Given the description of an element on the screen output the (x, y) to click on. 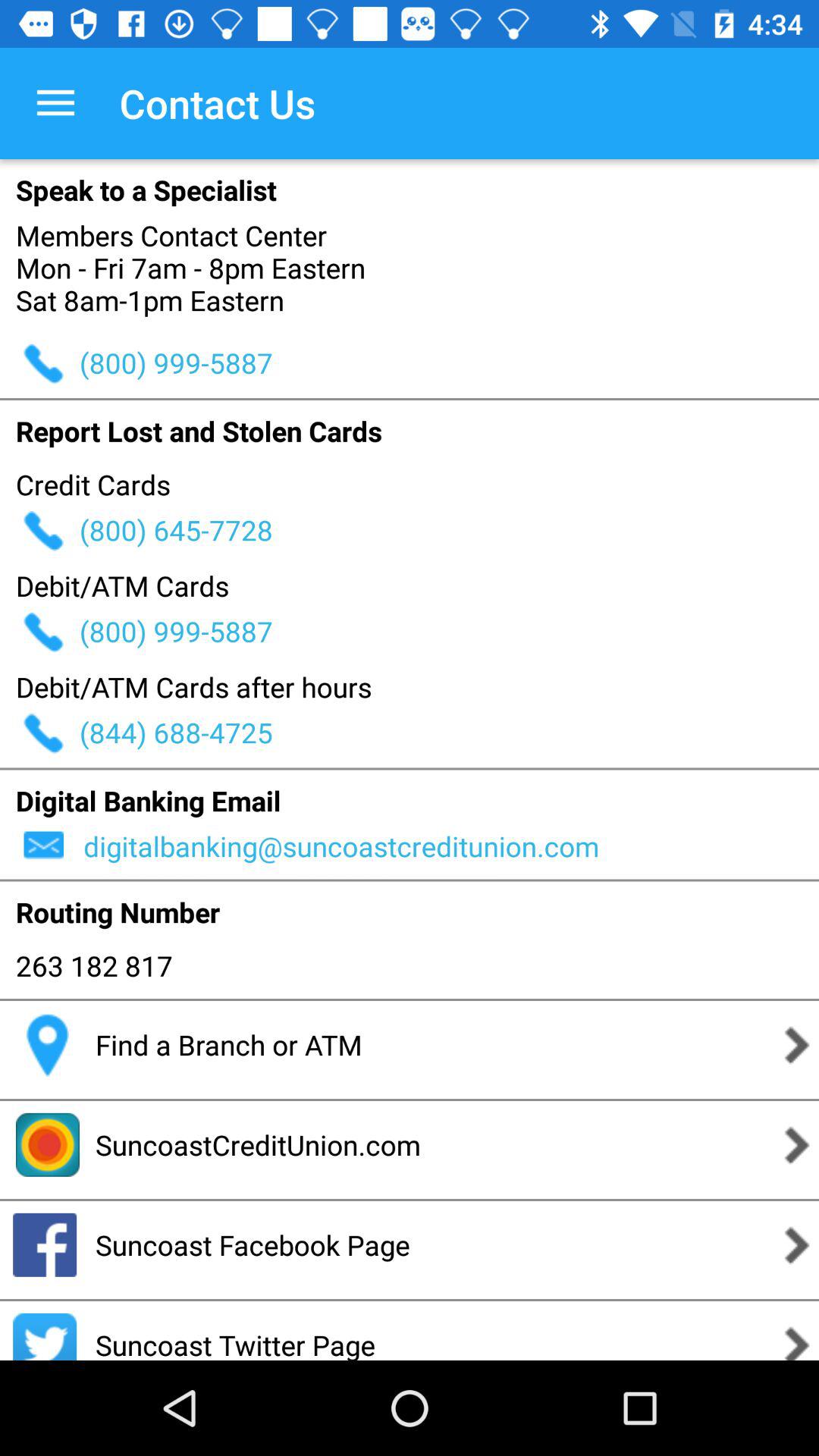
press (844) 688-4725 icon (449, 732)
